Given the description of an element on the screen output the (x, y) to click on. 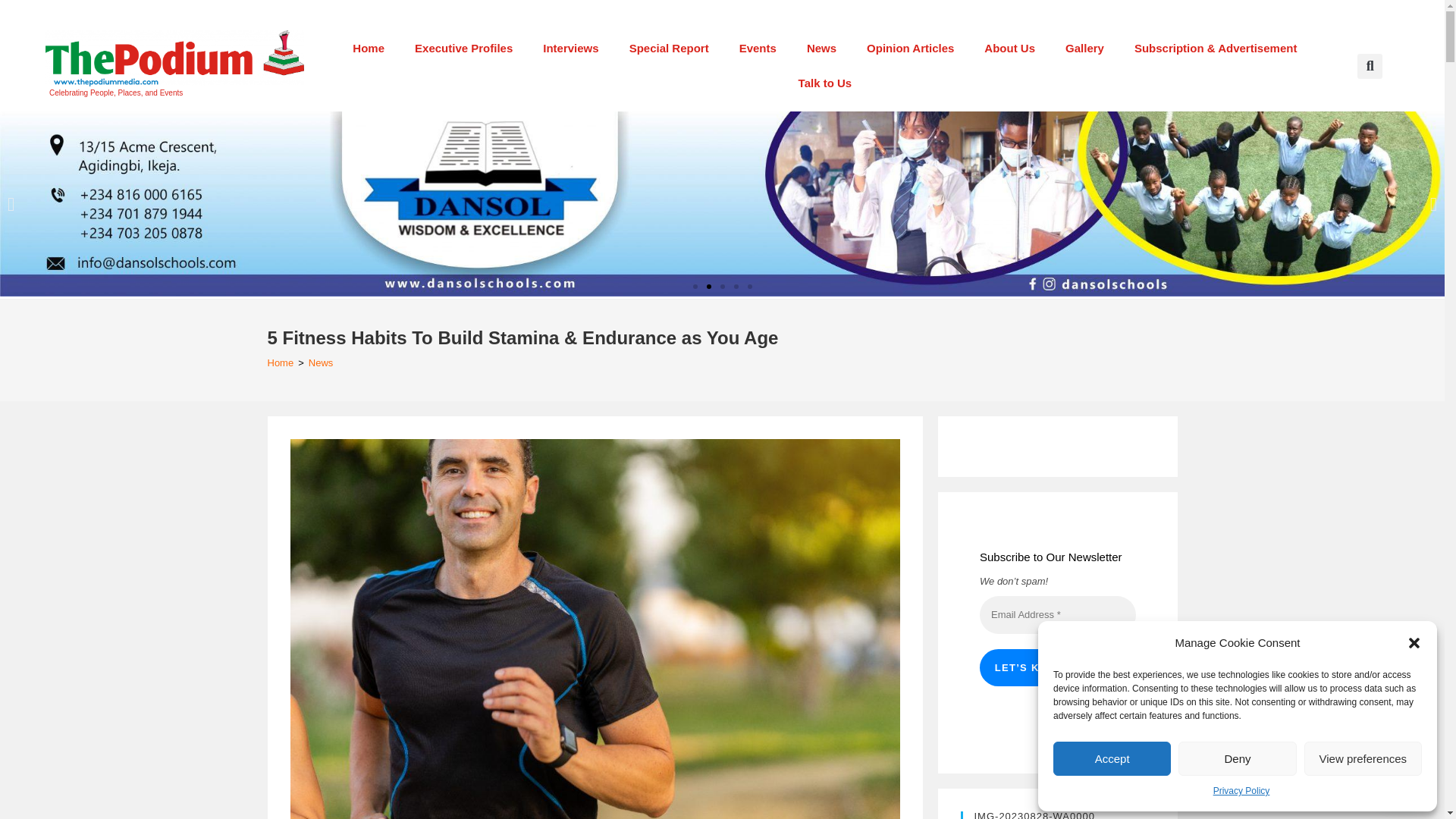
News (821, 48)
Opinion Articles (910, 48)
View preferences (1363, 758)
Interviews (569, 48)
Gallery (1084, 48)
Deny (1236, 758)
Home (367, 48)
Events (757, 48)
Privacy Policy (1240, 791)
About Us (1009, 48)
Executive Profiles (462, 48)
Talk to Us (825, 83)
Special Report (668, 48)
Accept (1111, 758)
